Given the description of an element on the screen output the (x, y) to click on. 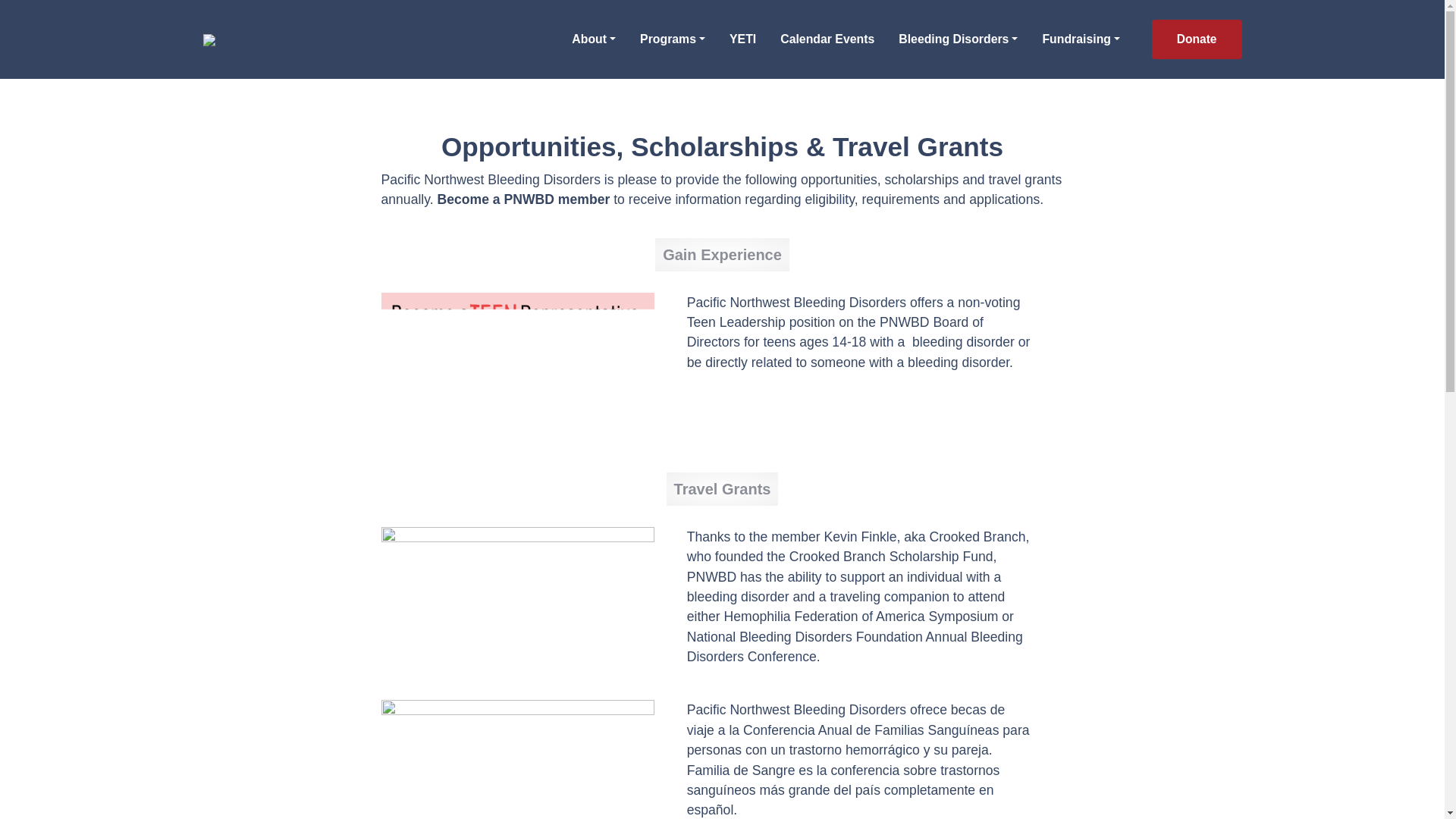
About (593, 39)
Fundraising (1080, 39)
Programs (672, 39)
YETI (742, 39)
Calendar Events (827, 39)
Programs (672, 39)
About (593, 39)
Become a PNWBD member (524, 199)
Donate (1196, 39)
Bleeding Disorders (957, 39)
